Given the description of an element on the screen output the (x, y) to click on. 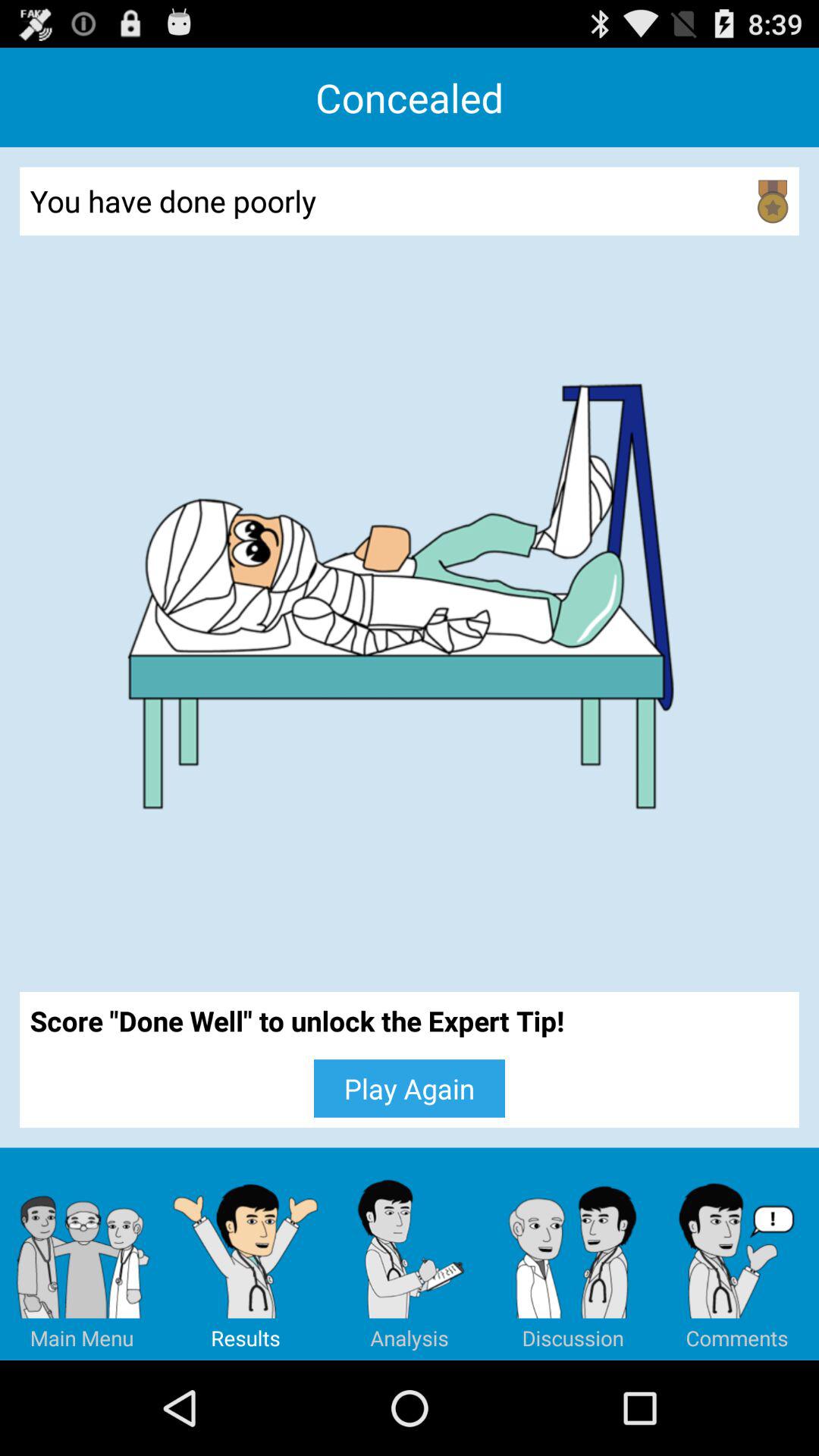
launch the icon below score done well app (409, 1088)
